Given the description of an element on the screen output the (x, y) to click on. 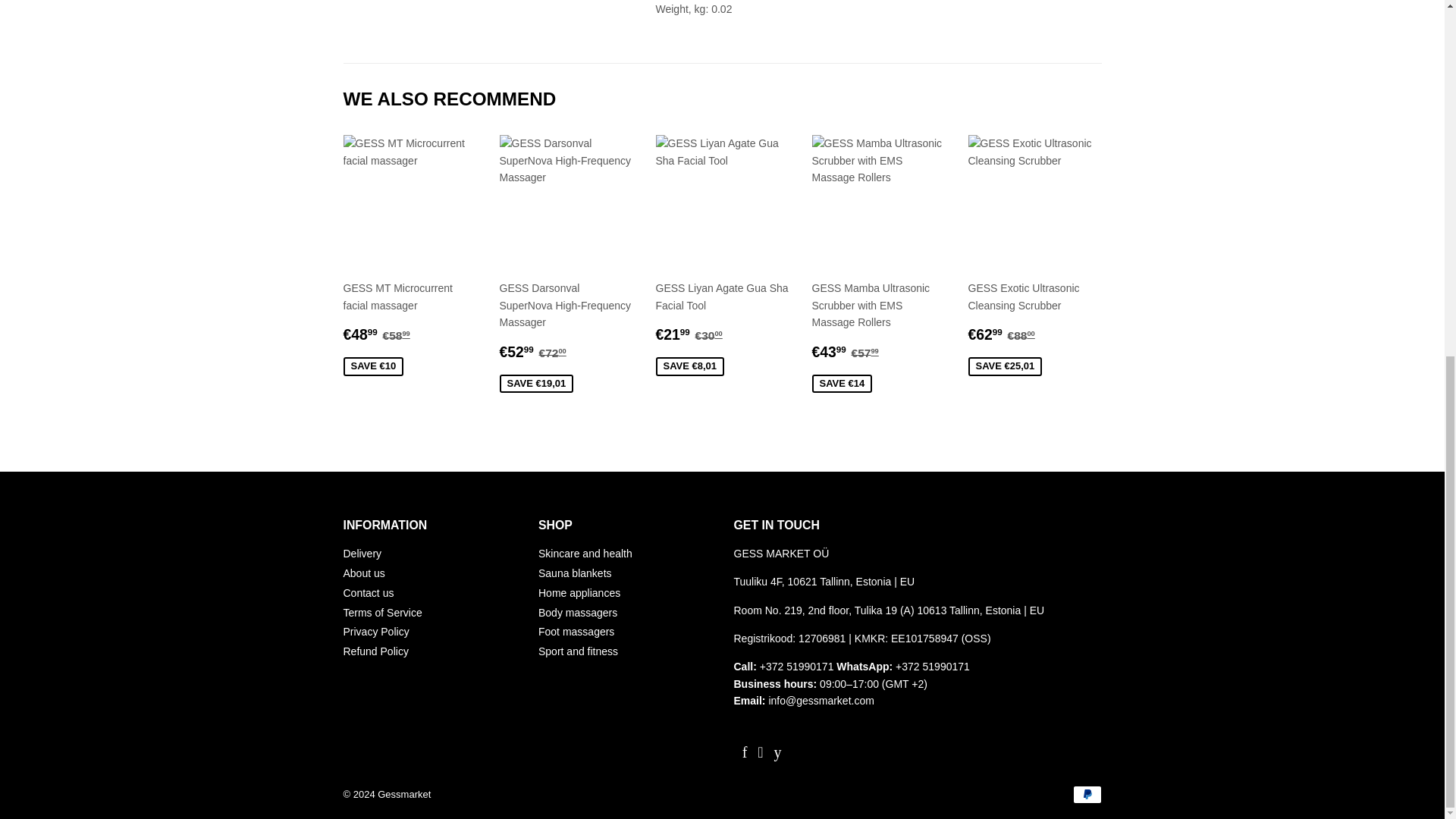
Privacy Policy (375, 631)
Terms of Service (382, 612)
About us (363, 573)
Delivery (361, 553)
Contact us (367, 592)
PayPal (1085, 794)
